Given the description of an element on the screen output the (x, y) to click on. 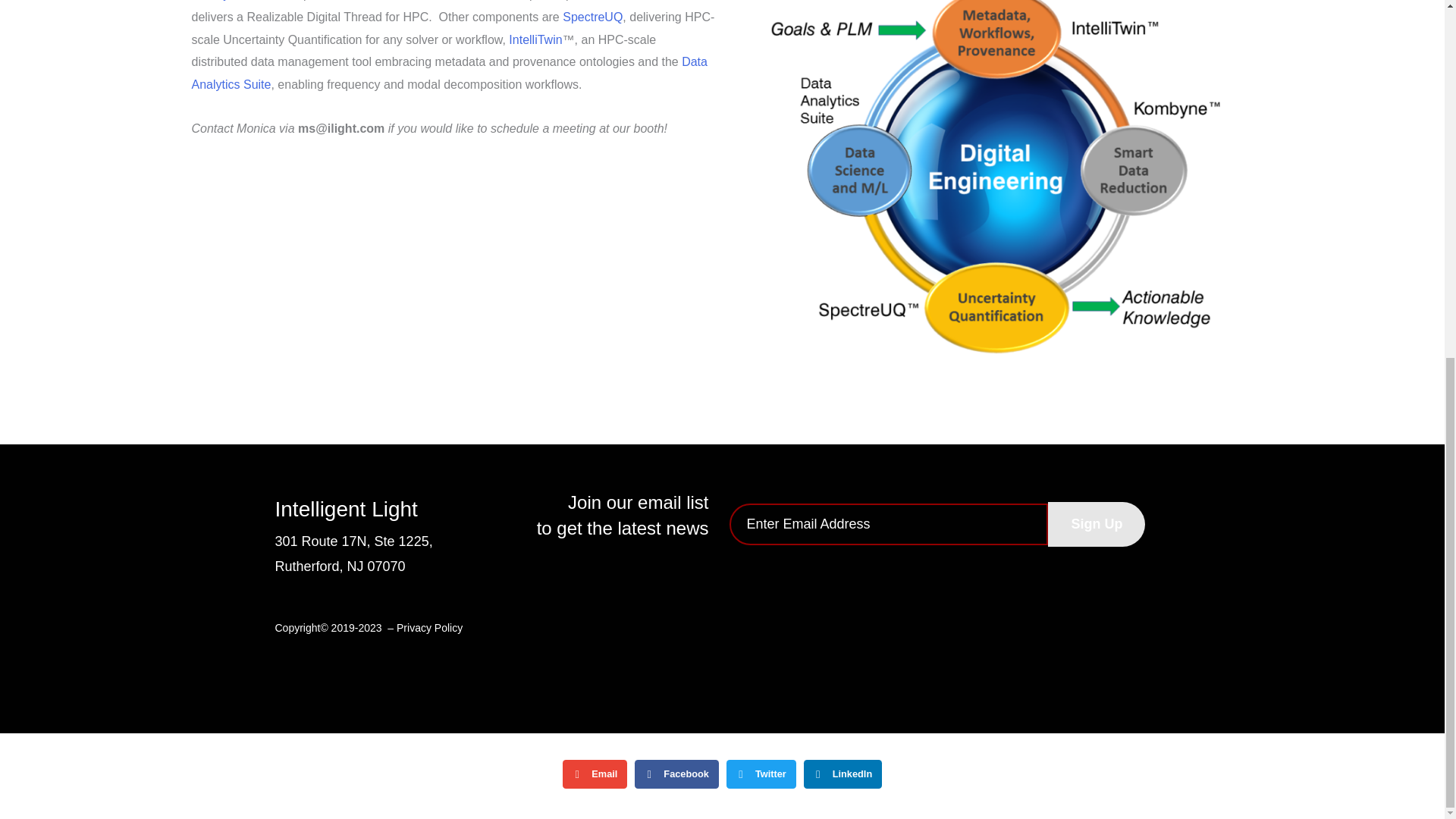
Data Analytics Suite (448, 72)
IntelliTwin (404, 0)
SpectreUQ (592, 16)
Privacy Policy (429, 627)
IntelliTwin (535, 38)
Sign Up (1096, 524)
Kombyne (216, 0)
Sign Up (1096, 524)
